Given the description of an element on the screen output the (x, y) to click on. 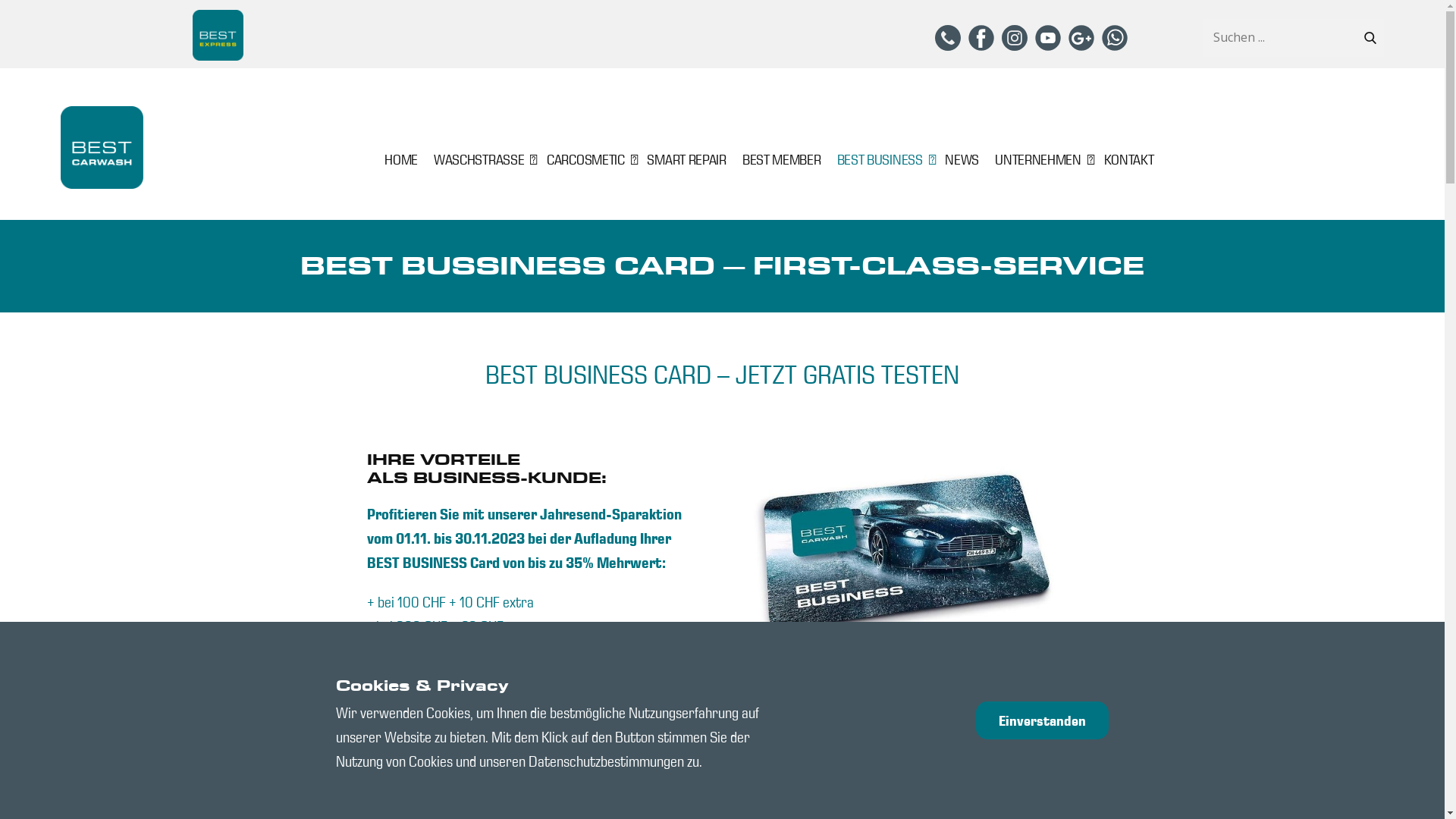
Facebook Element type: hover (981, 37)
Einverstanden Element type: text (1041, 720)
SMART REPAIR Element type: text (686, 159)
BEST BUSINESS Element type: text (883, 159)
YouTube Element type: hover (1047, 37)
WASCHSTRASSE Element type: text (482, 159)
BEST MEMBER Element type: text (781, 159)
CARCOSMETIC Element type: text (588, 159)
Whatsapp Element type: hover (1114, 37)
Google Plus Element type: hover (1081, 37)
  Jetzt online Termin buchen Element type: text (1239, 769)
HOME Element type: text (400, 159)
NEWS Element type: text (961, 159)
UNTERNEHMEN Element type: text (1041, 159)
instagram Element type: hover (1014, 37)
Phone Element type: hover (947, 37)
KONTAKT Element type: text (1128, 159)
